Given the description of an element on the screen output the (x, y) to click on. 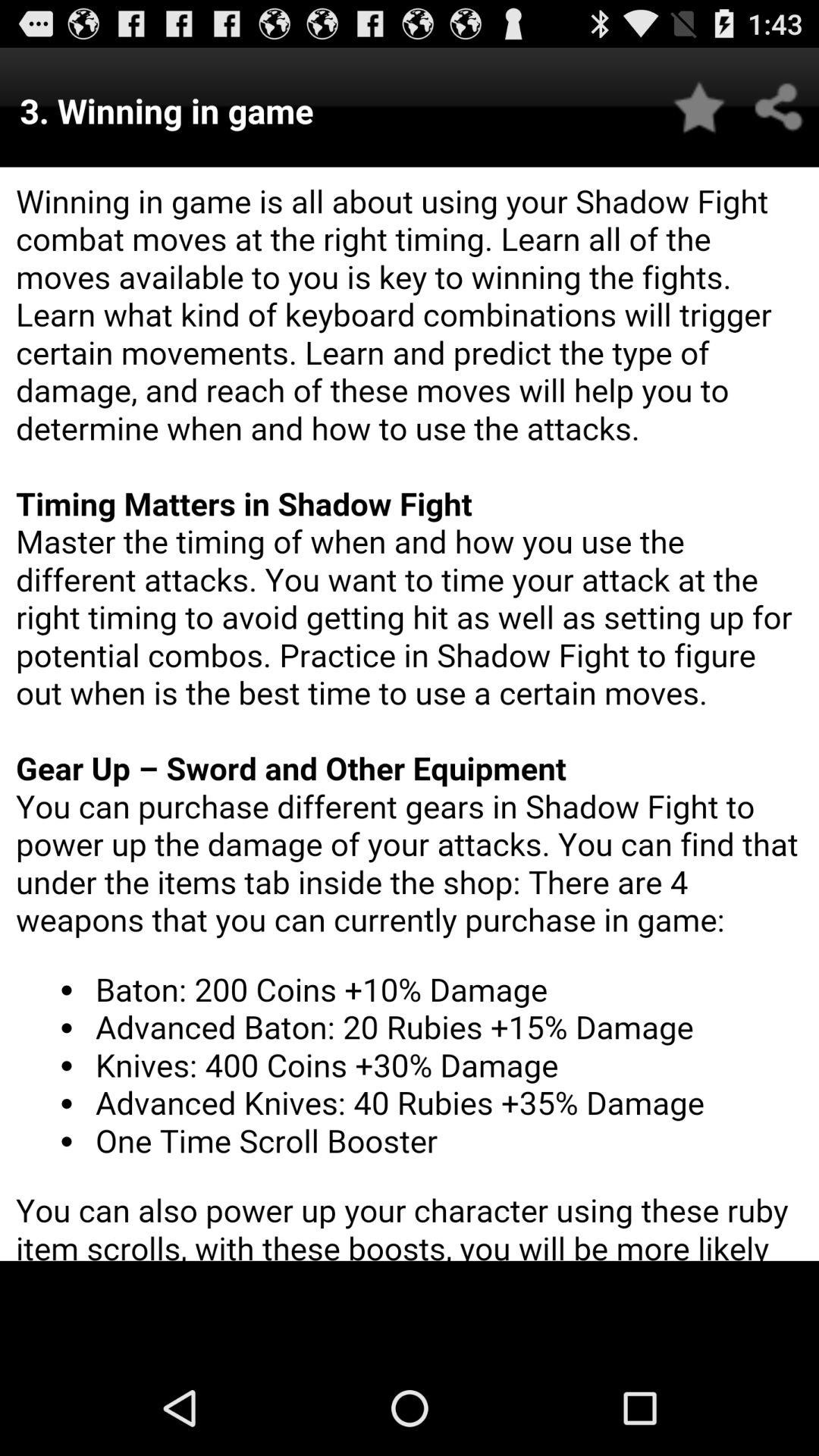
favorite (699, 107)
